Given the description of an element on the screen output the (x, y) to click on. 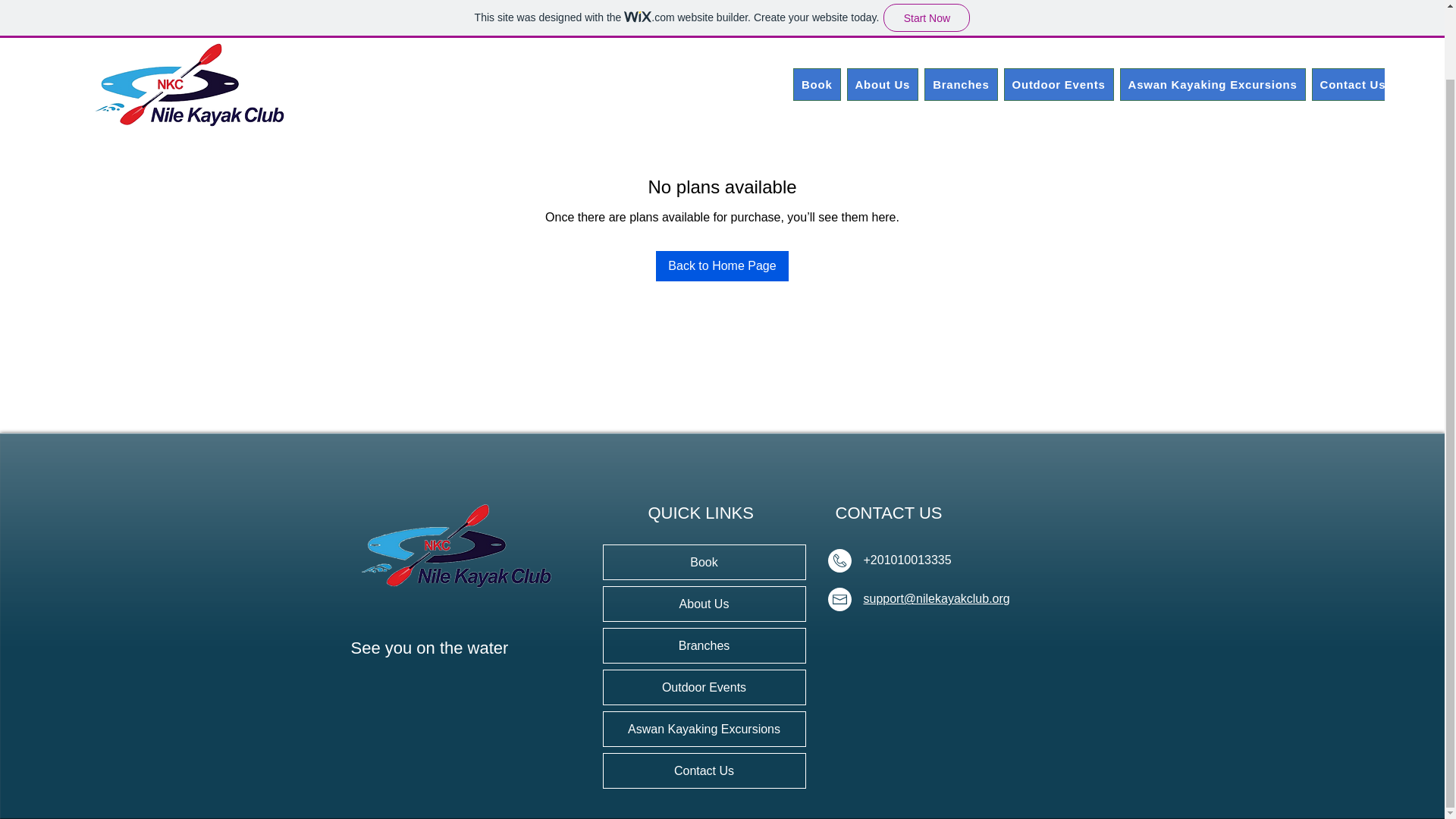
Outdoor Events (704, 687)
Aswan Kayaking Excursions (1212, 12)
Branches (960, 12)
About Us (704, 603)
Contact Us (1352, 12)
About Us (881, 12)
Book (817, 12)
Book (704, 562)
Outdoor Events (1058, 12)
Contact Us (704, 770)
Aswan Kayaking Excursions (704, 728)
Branches (704, 645)
Back to Home Page (721, 265)
